Given the description of an element on the screen output the (x, y) to click on. 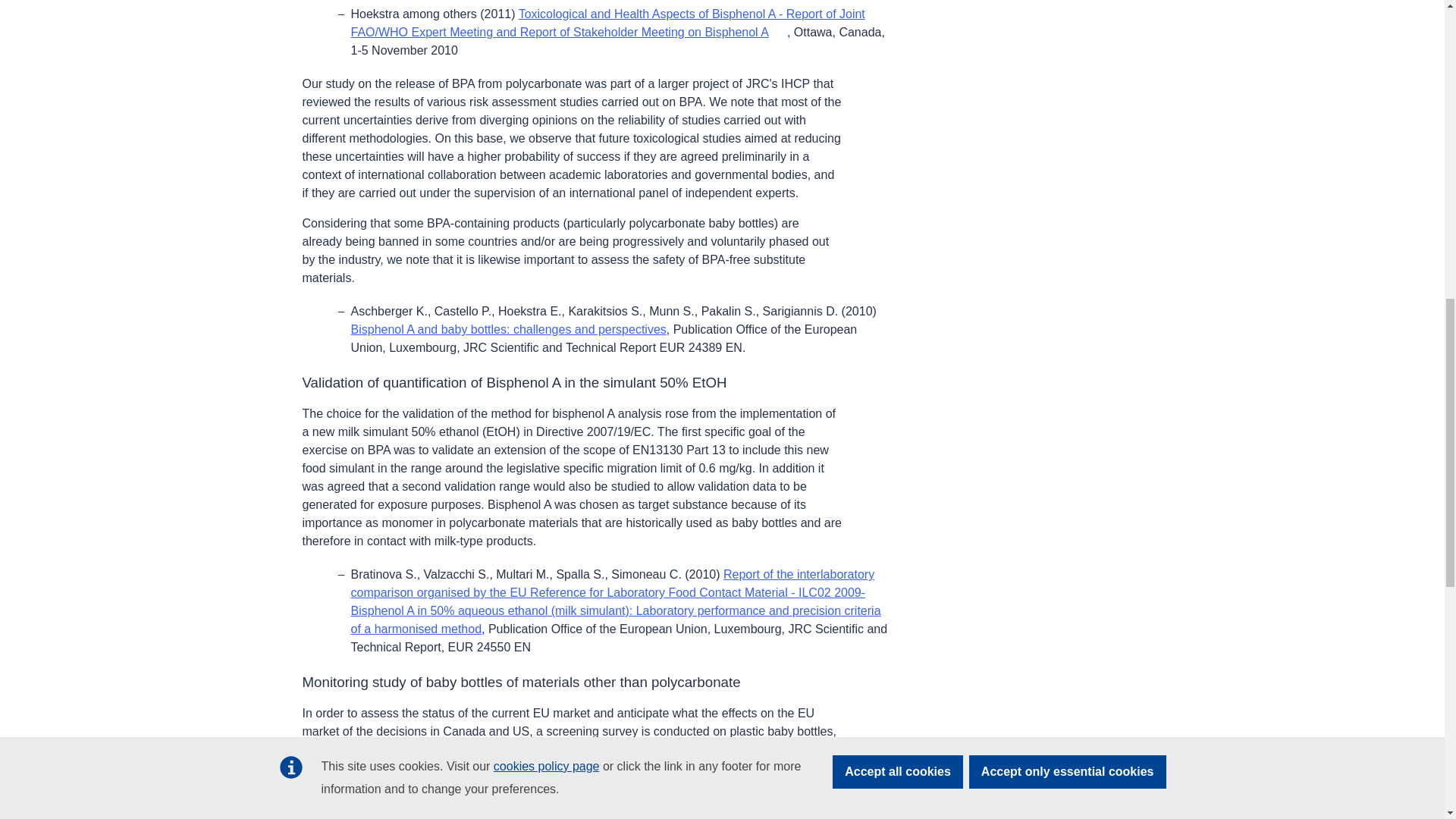
Bisphenol A and baby bottles: challenges and perspectives (507, 328)
